Given the description of an element on the screen output the (x, y) to click on. 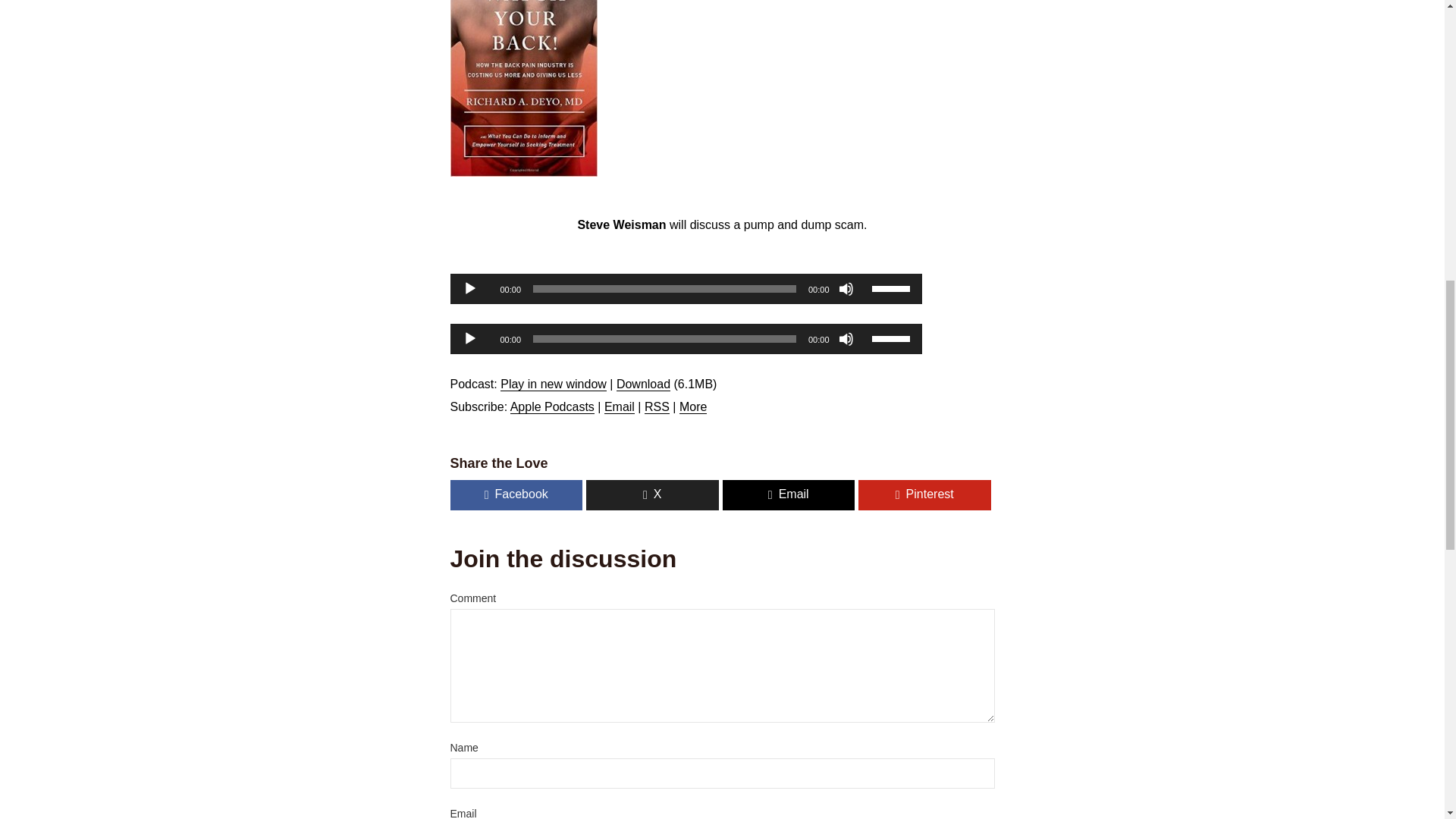
More (692, 407)
Mute (845, 288)
Pinterest (925, 494)
X (652, 494)
Mute (845, 338)
RSS (657, 407)
Play in new window (553, 384)
Play in new window (553, 384)
Download (642, 384)
Email (619, 407)
